Given the description of an element on the screen output the (x, y) to click on. 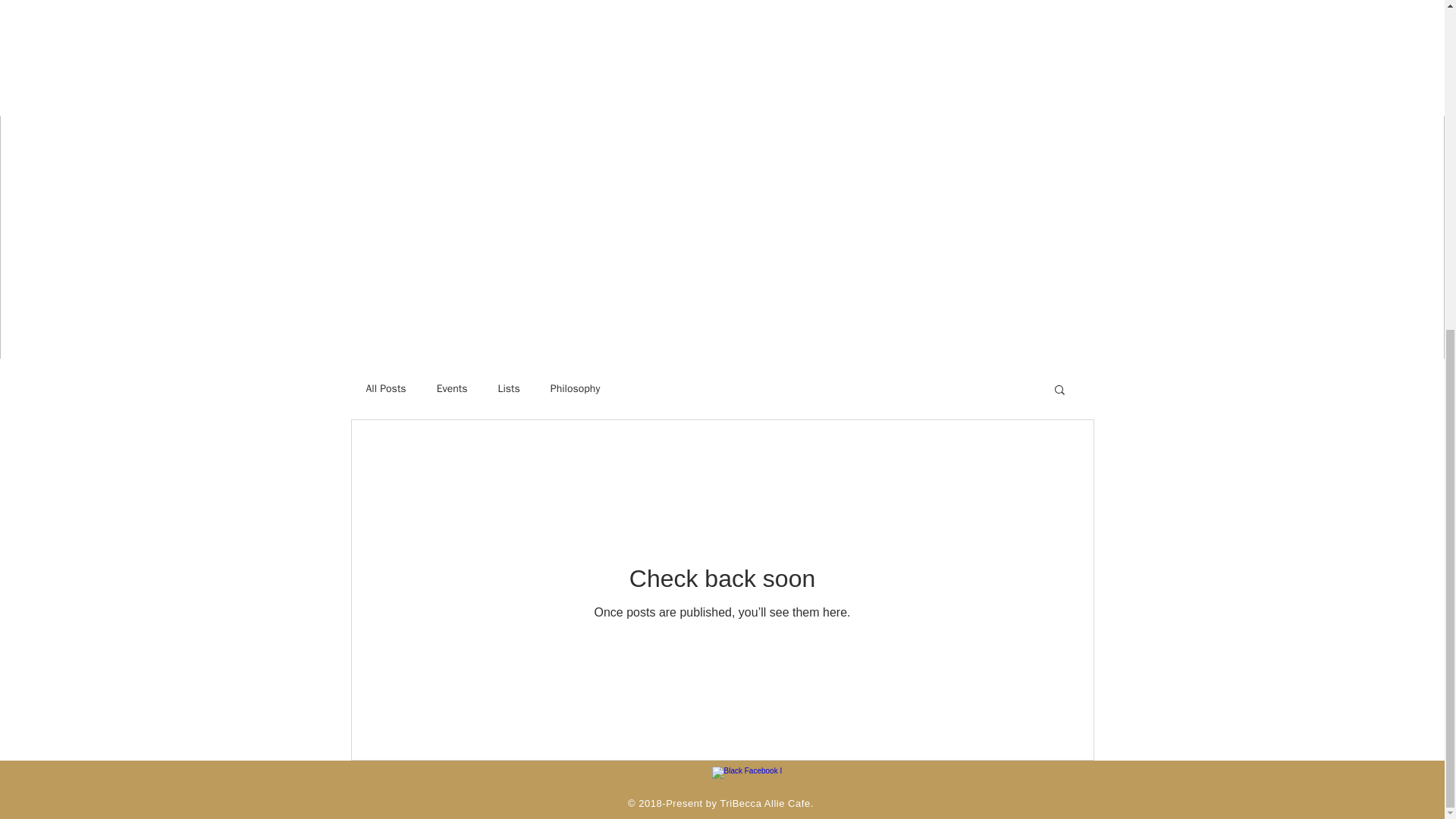
All Posts (385, 388)
Philosophy (574, 388)
Events (451, 388)
Lists (508, 388)
